Given the description of an element on the screen output the (x, y) to click on. 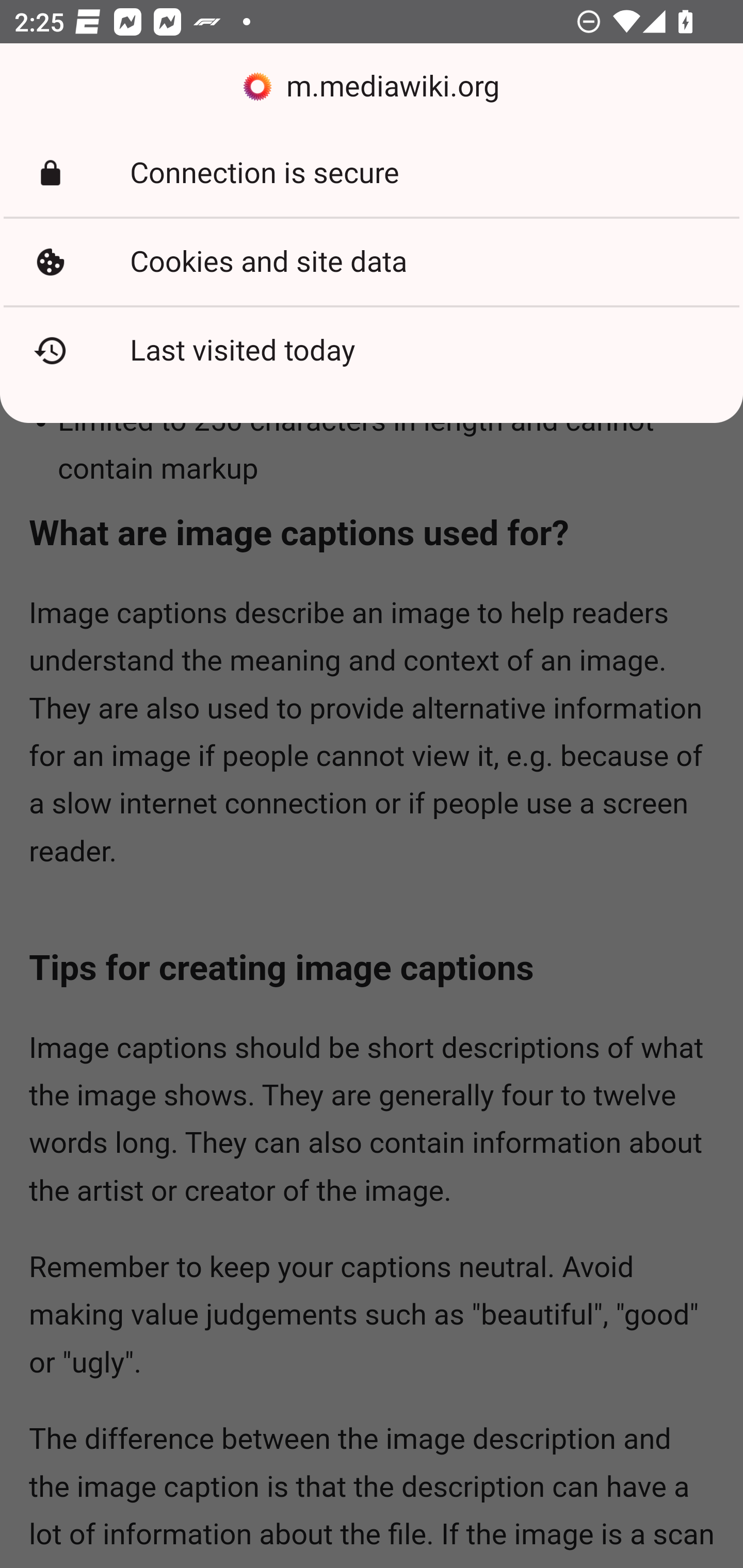
m.mediawiki.org (371, 86)
Connection is secure (371, 173)
Cookies and site data (371, 261)
Last visited today (371, 350)
